Given the description of an element on the screen output the (x, y) to click on. 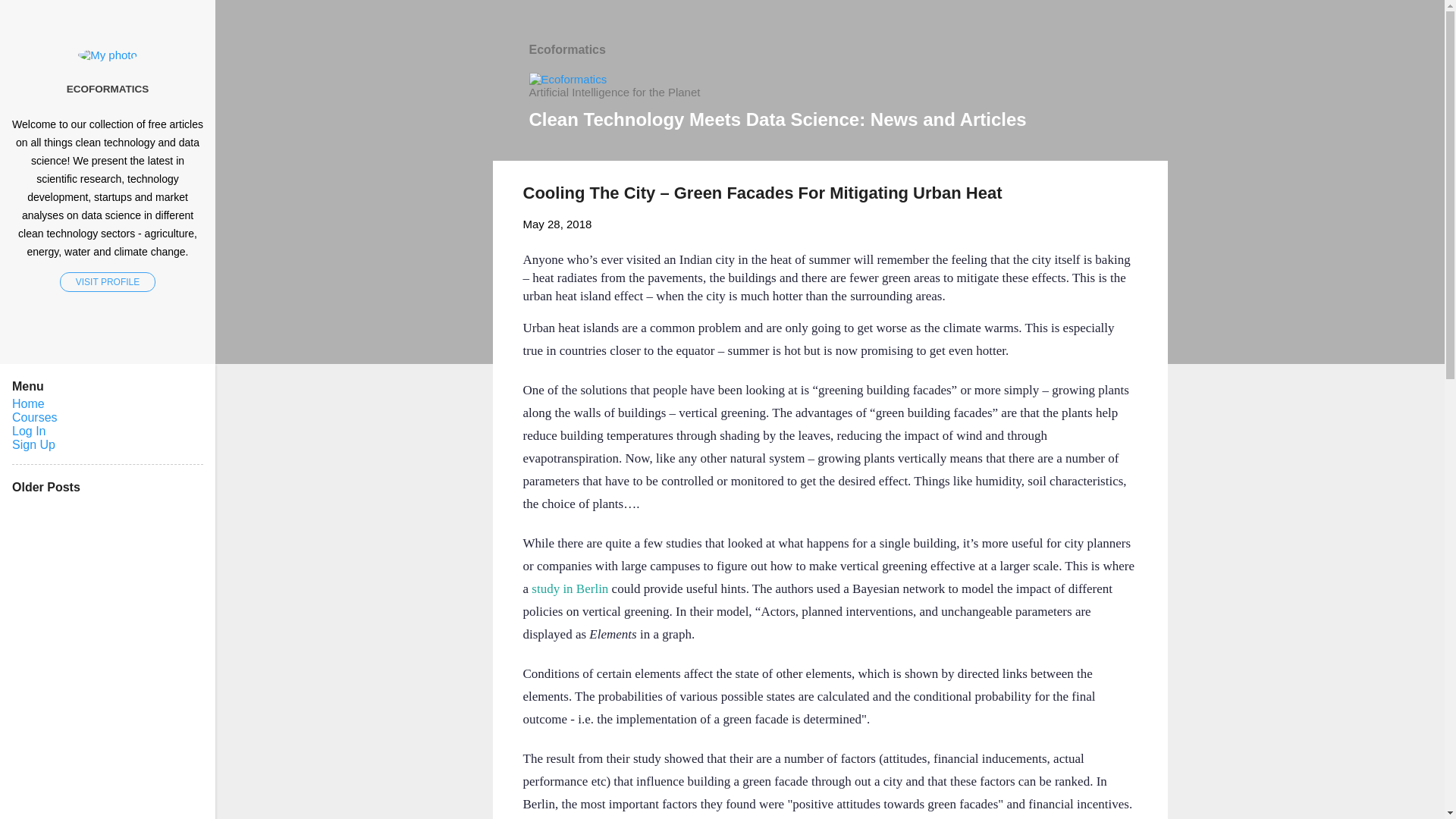
Sign Up (33, 444)
ECOFORMATICS (107, 88)
Courses (34, 417)
Search (29, 18)
May 28, 2018 (557, 223)
Home (28, 403)
 study in Berlin (568, 587)
permanent link (557, 223)
Clean Technology Meets Data Science: News and Articles (777, 118)
Log In (28, 431)
